Given the description of an element on the screen output the (x, y) to click on. 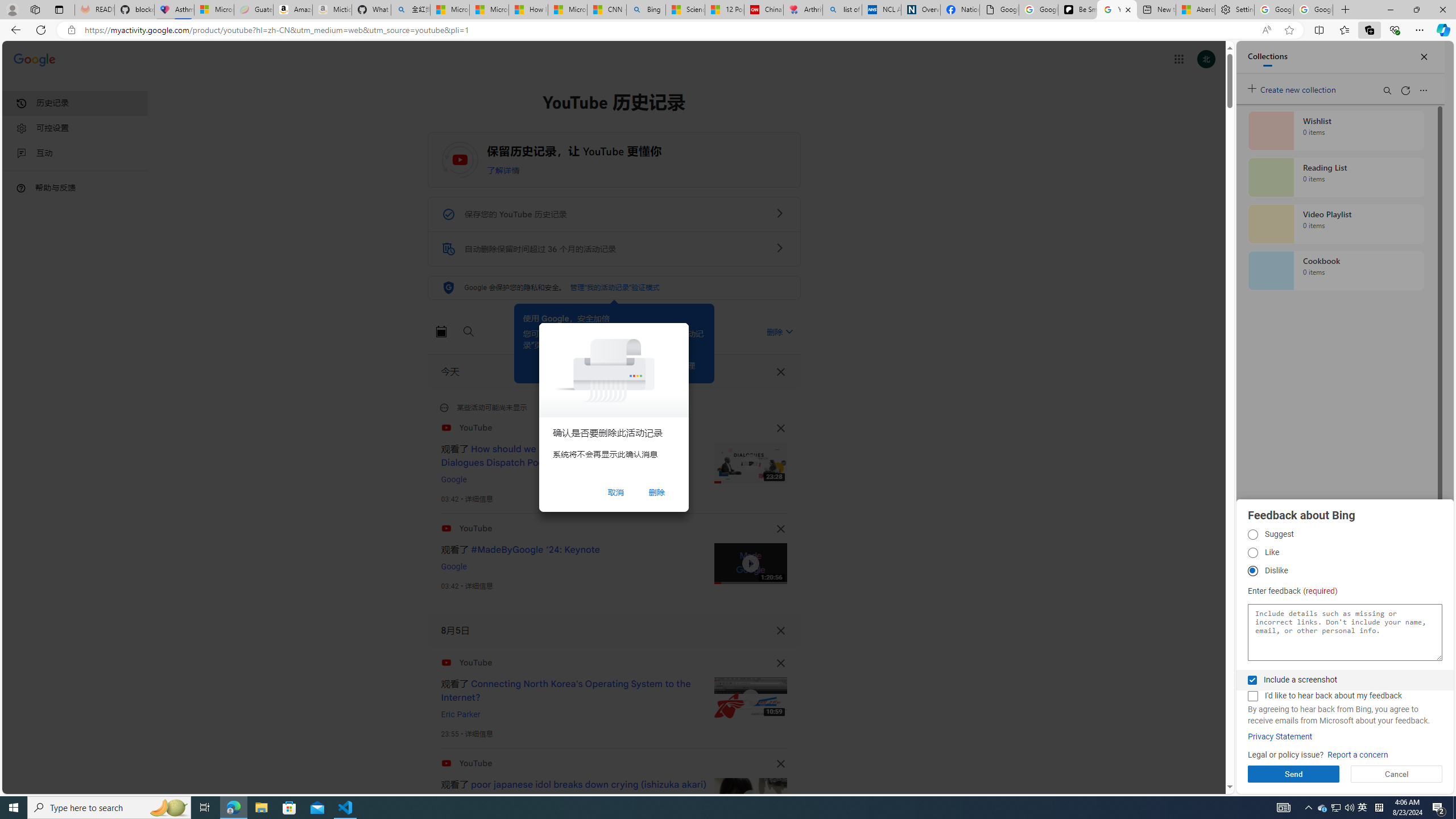
Asthma Inhalers: Names and Types (174, 9)
Include a screenshot Include a screenshot (1251, 679)
Dislike Dislike (1252, 570)
Cancel (1396, 773)
Suggest Suggest (1252, 534)
